Given the description of an element on the screen output the (x, y) to click on. 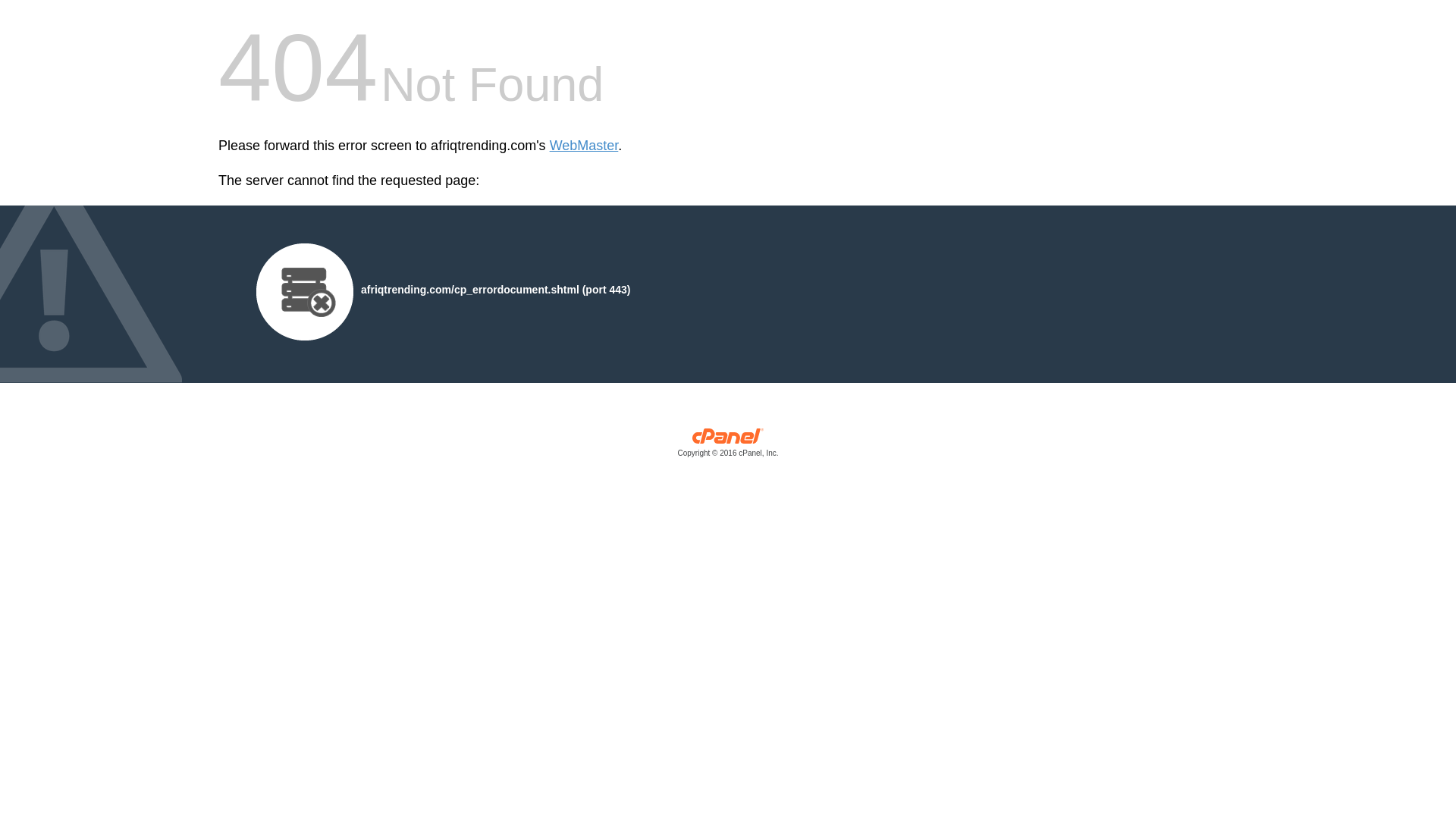
cPanel, Inc. (727, 446)
WebMaster (584, 145)
